Given the description of an element on the screen output the (x, y) to click on. 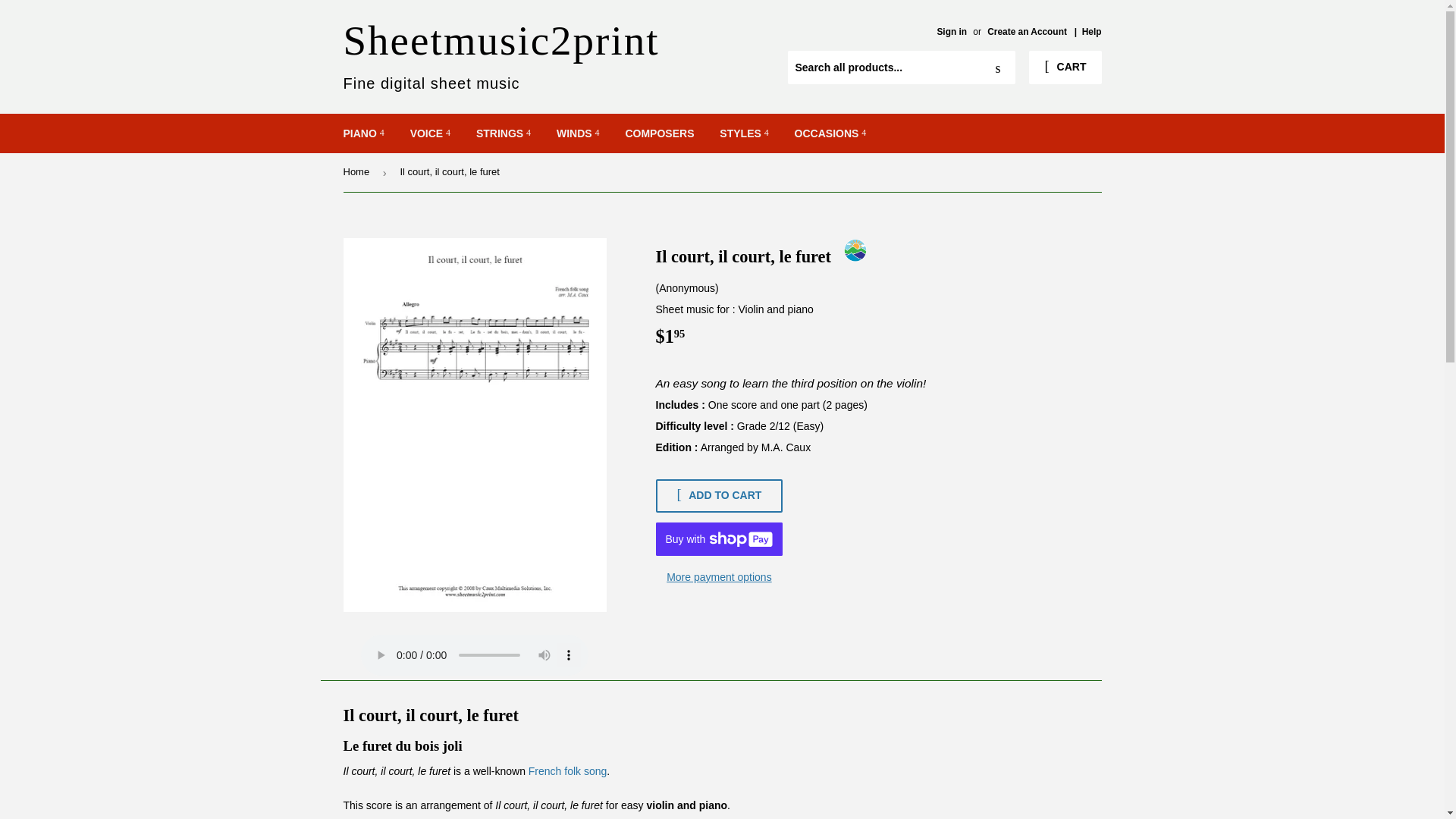
Help (1091, 31)
Search (997, 68)
Sign in (951, 31)
Create an Account (1027, 31)
CART (1064, 67)
Sheet music about animals, nature and the great outdoors (532, 53)
